Given the description of an element on the screen output the (x, y) to click on. 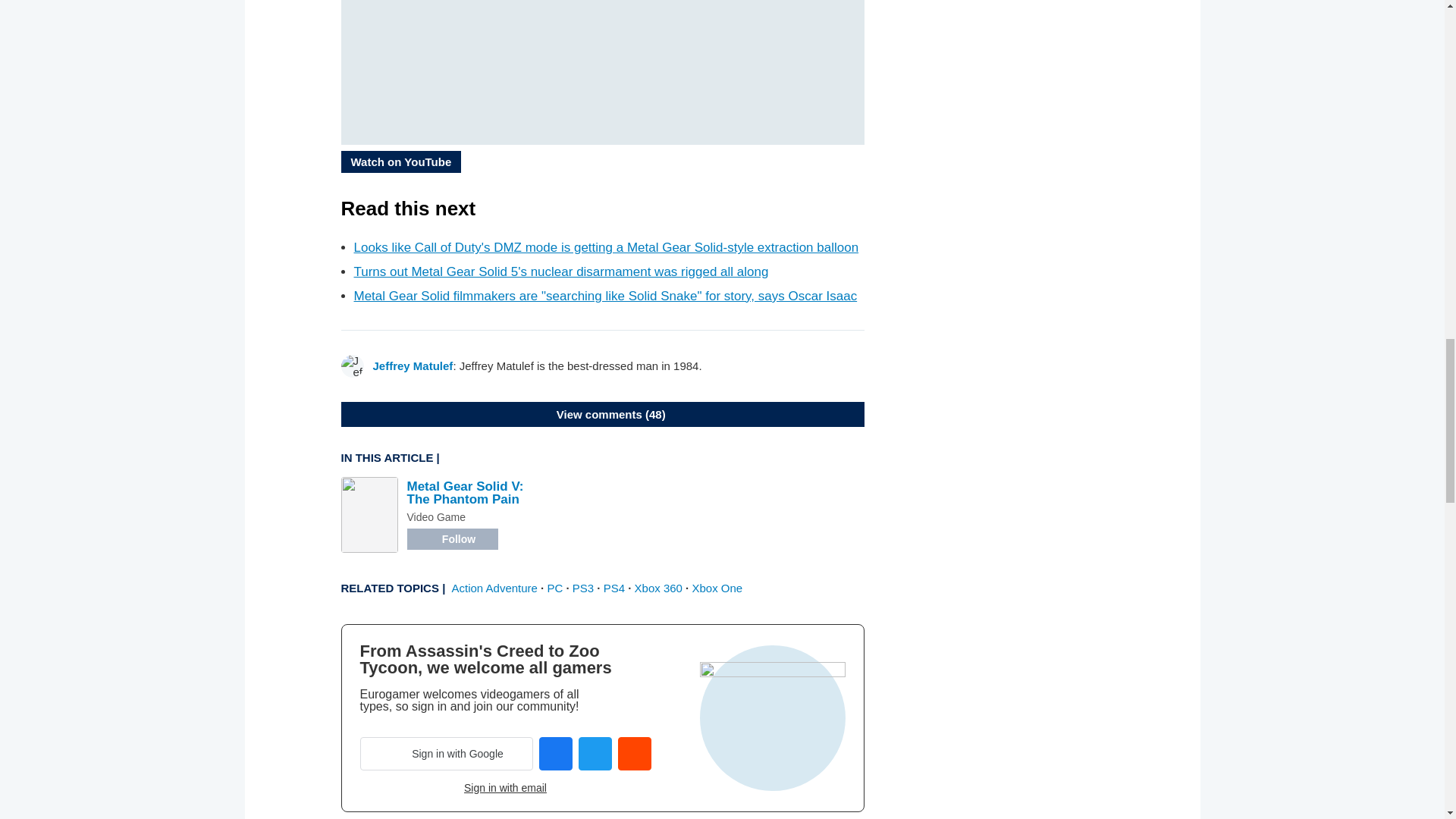
Jeffrey Matulef (412, 365)
Watch on YouTube (400, 161)
Metal Gear Solid V: The Phantom Pain (464, 492)
